Given the description of an element on the screen output the (x, y) to click on. 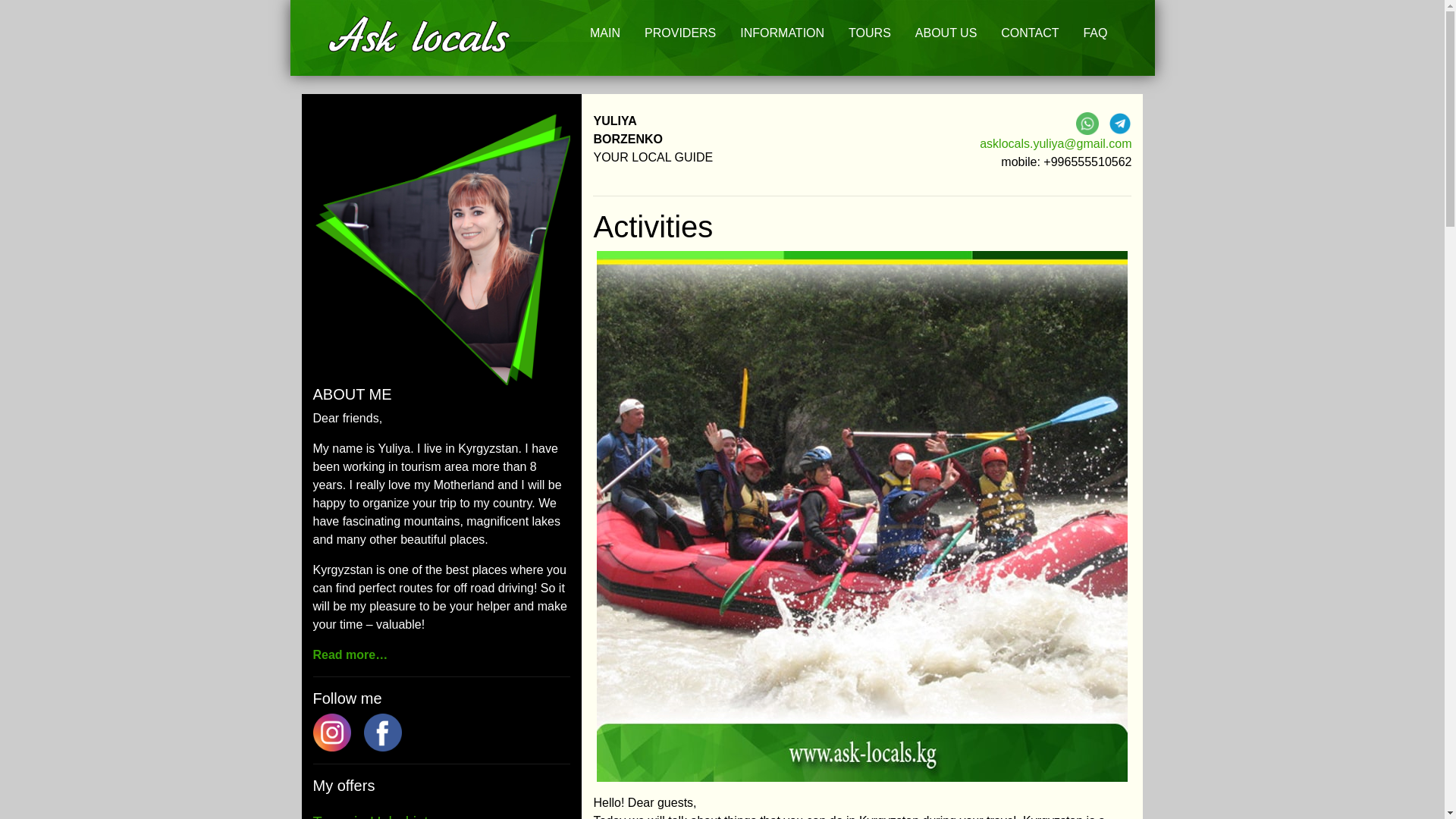
Activities (861, 226)
TOURS (869, 33)
PROVIDERS (680, 33)
Tours in Uzbekistan (379, 816)
INFORMATION (781, 33)
ABOUT US (946, 33)
Ask Locals (421, 34)
CONTACT (1029, 33)
